Given the description of an element on the screen output the (x, y) to click on. 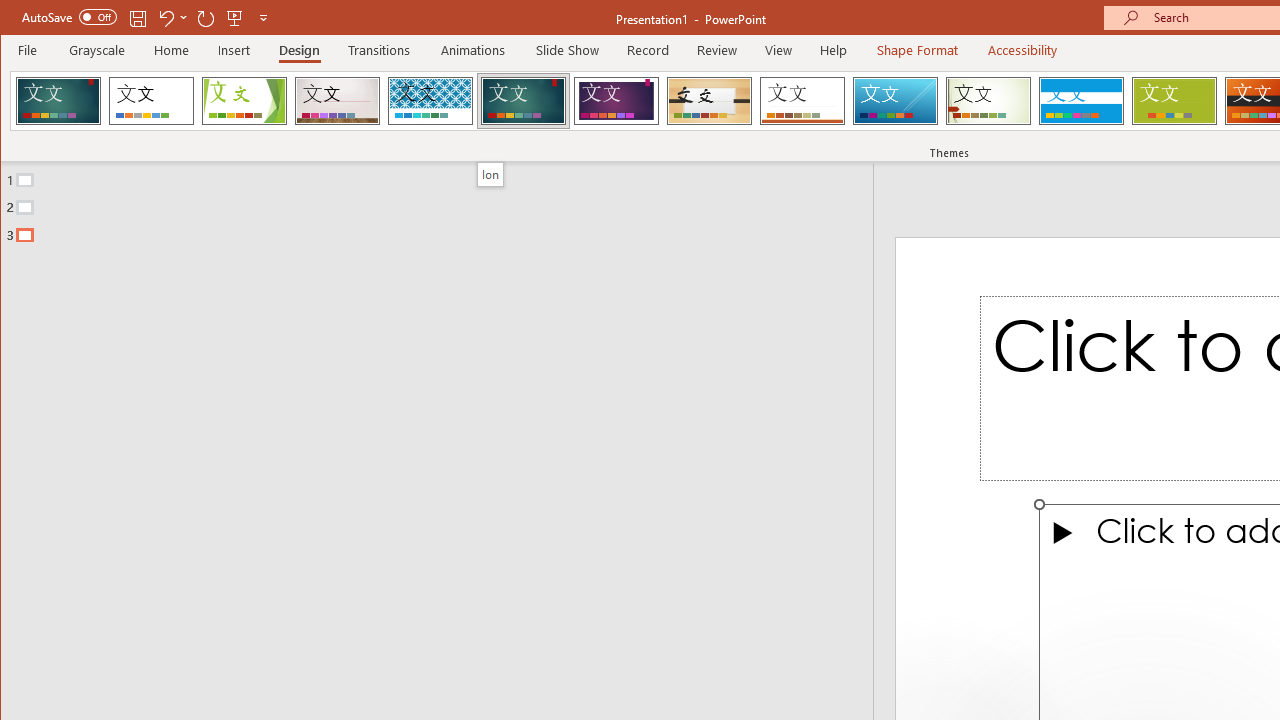
Facet (244, 100)
Dividend (57, 100)
Gallery (337, 100)
Banded (1081, 100)
Ion (490, 174)
Organic (709, 100)
Slice (895, 100)
